Given the description of an element on the screen output the (x, y) to click on. 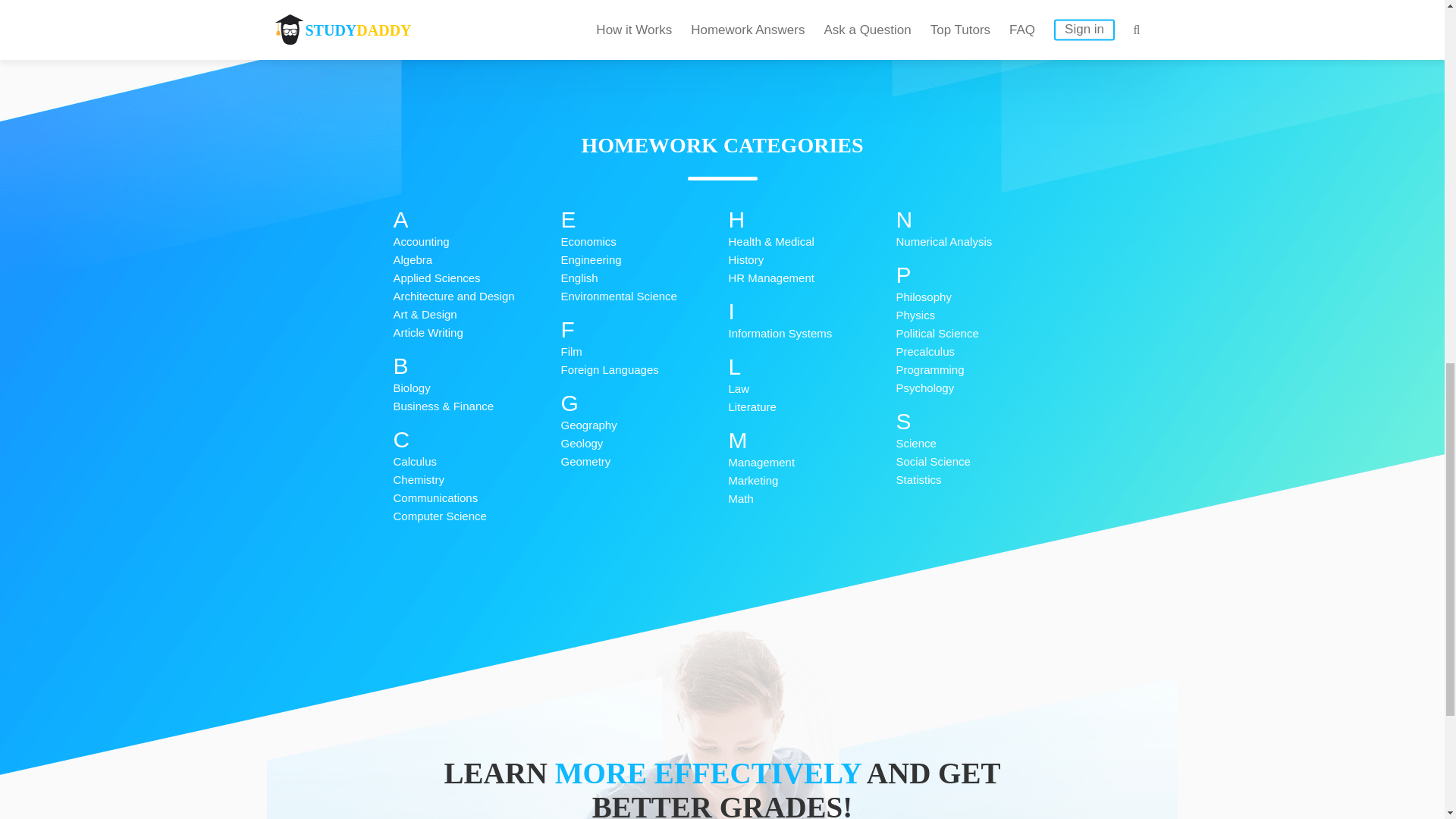
Article Writing (476, 332)
Applied Sciences (476, 278)
Engineering (644, 259)
Chemistry (476, 479)
Accounting (476, 241)
Algebra (476, 259)
Economics (644, 241)
Environmental Science (644, 296)
Architecture and Design (476, 296)
Biology (476, 388)
Computer Science (476, 515)
English (644, 278)
Calculus (476, 461)
Communications (476, 497)
